Given the description of an element on the screen output the (x, y) to click on. 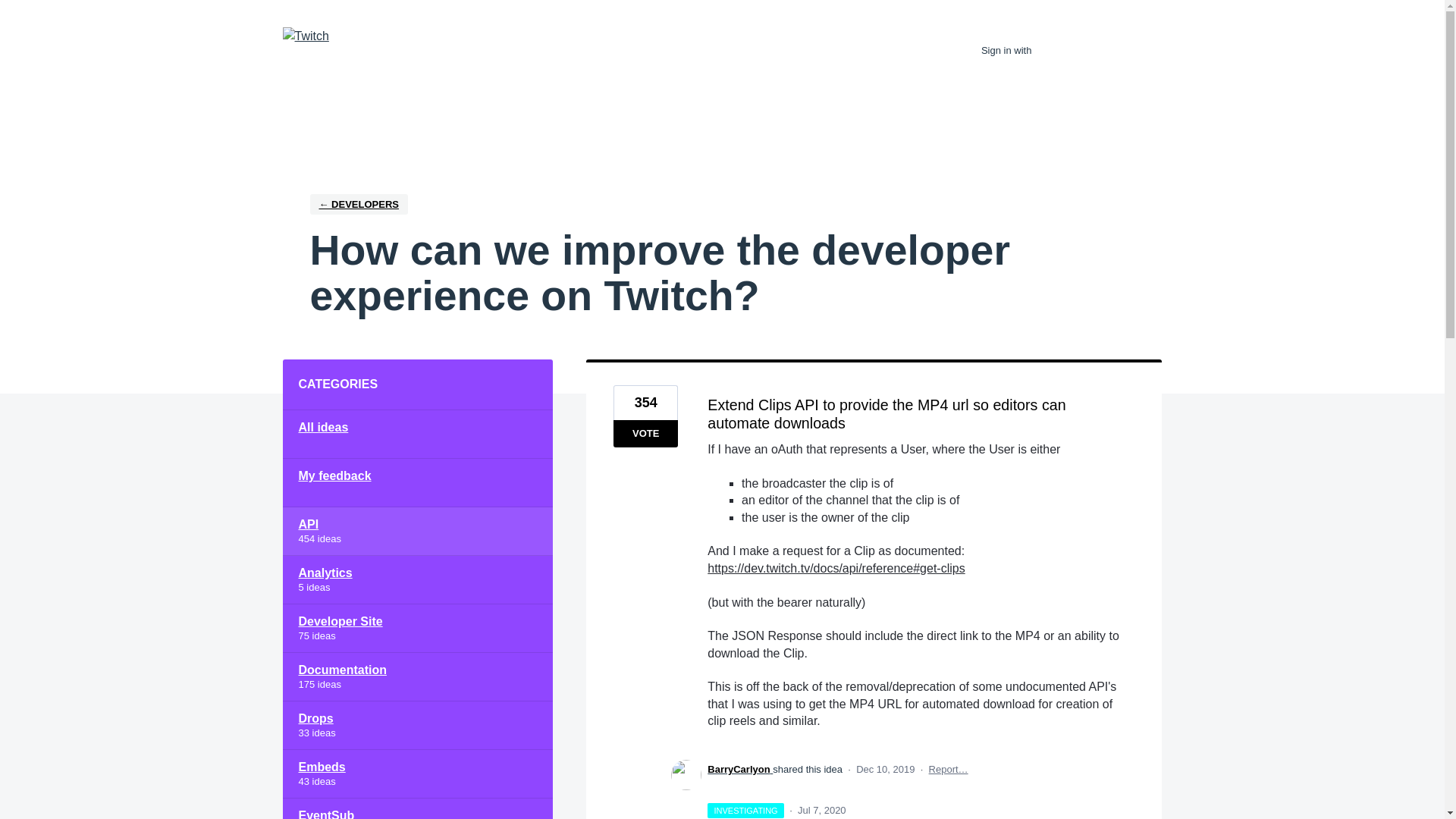
Documentation (417, 676)
API (417, 531)
View all ideas in category Embeds (417, 774)
View all ideas in category EventSub (417, 808)
View all ideas in category Documentation (417, 676)
All ideas (417, 434)
Developer Site (417, 628)
View all ideas in category Analytics (417, 580)
EventSub (417, 808)
Drops (417, 725)
